Given the description of an element on the screen output the (x, y) to click on. 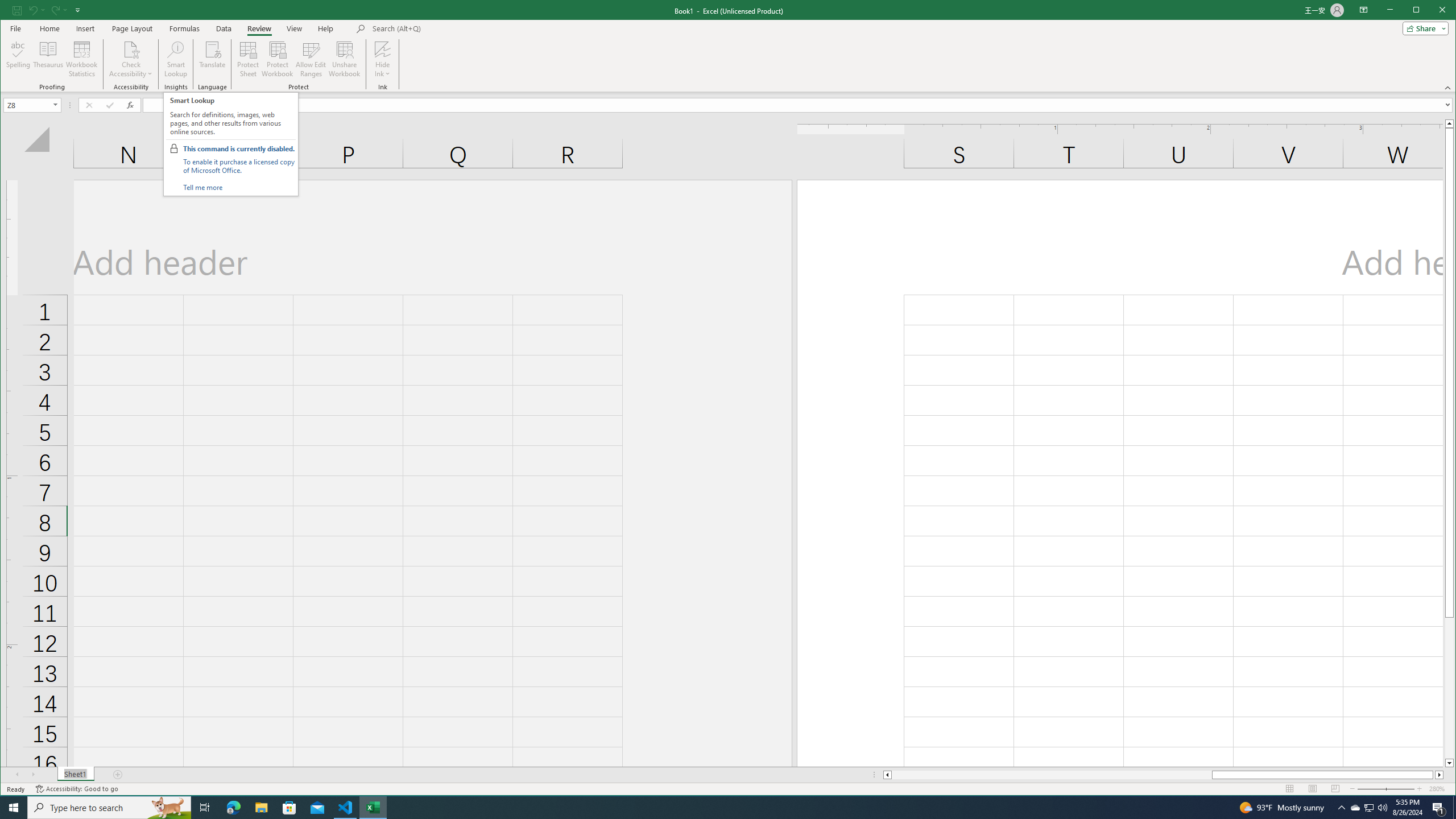
Workbook Statistics (82, 59)
User Promoted Notification Area (1368, 807)
Sheet Tab (75, 774)
Check Accessibility (130, 59)
Type here to search (108, 807)
